Given the description of an element on the screen output the (x, y) to click on. 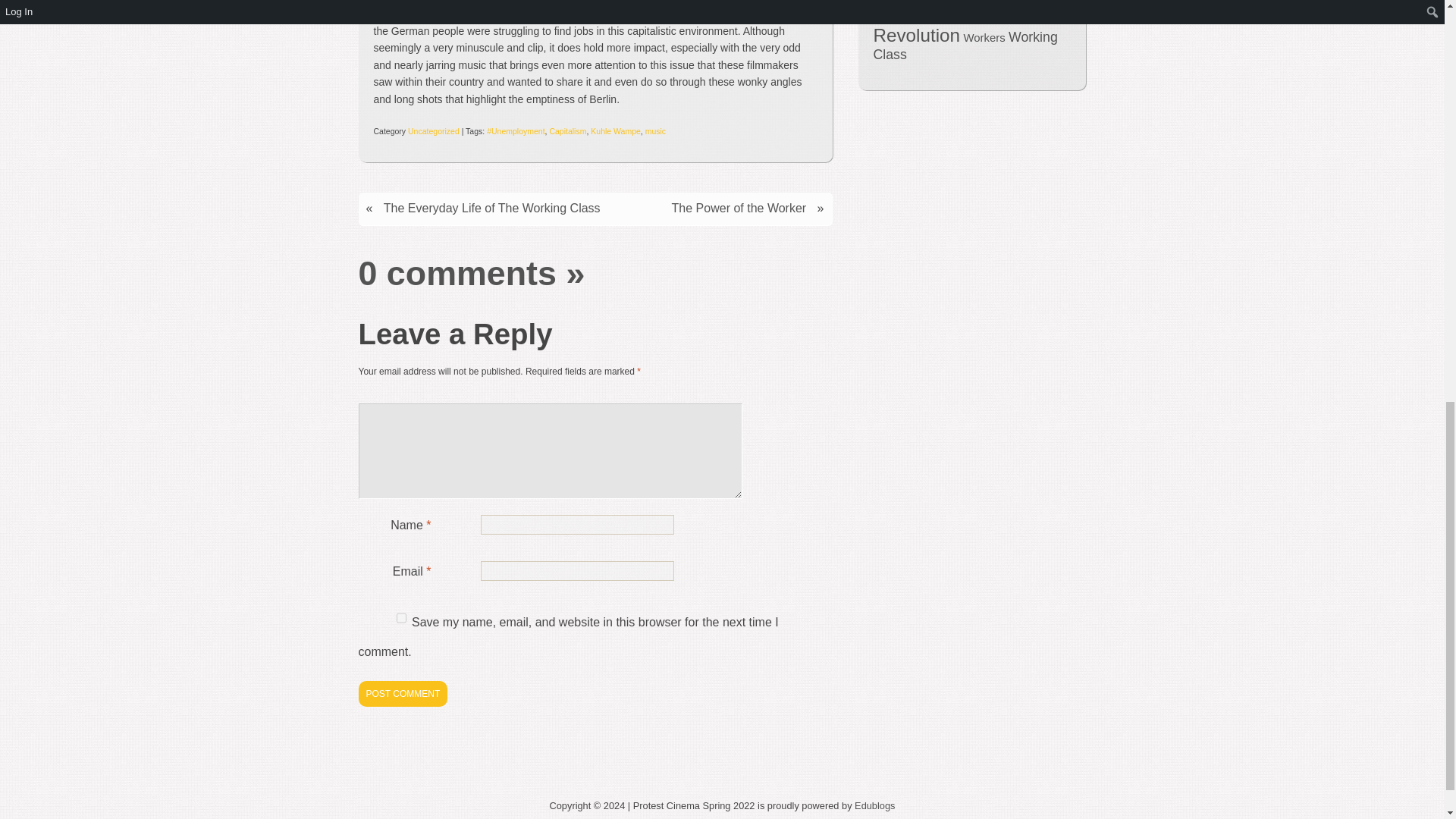
The Power of the Worker (738, 208)
Post Comment (402, 693)
Uncategorized (433, 130)
Kuhle Wampe (615, 130)
Capitalism (567, 130)
Edublogs (874, 805)
0 comments (457, 272)
Post Comment (402, 693)
The Everyday Life of The Working Class (491, 208)
music (655, 130)
